Given the description of an element on the screen output the (x, y) to click on. 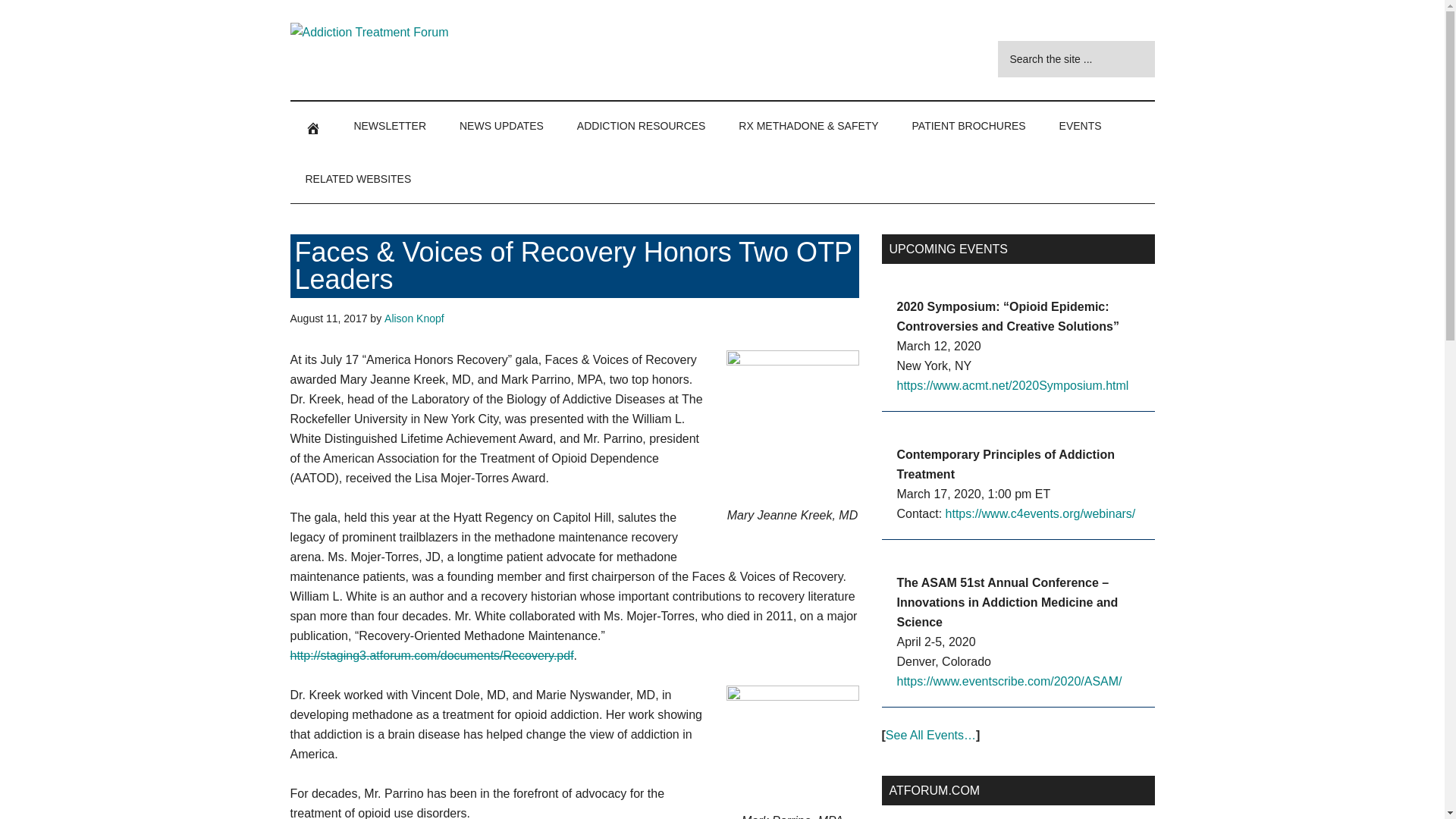
PATIENT BROCHURES (968, 125)
ADDICTION RESOURCES (641, 125)
EVENTS (1079, 125)
RELATED WEBSITES (357, 178)
NEWS UPDATES (501, 125)
Alison Knopf (414, 318)
NEWSLETTER (389, 125)
